Given the description of an element on the screen output the (x, y) to click on. 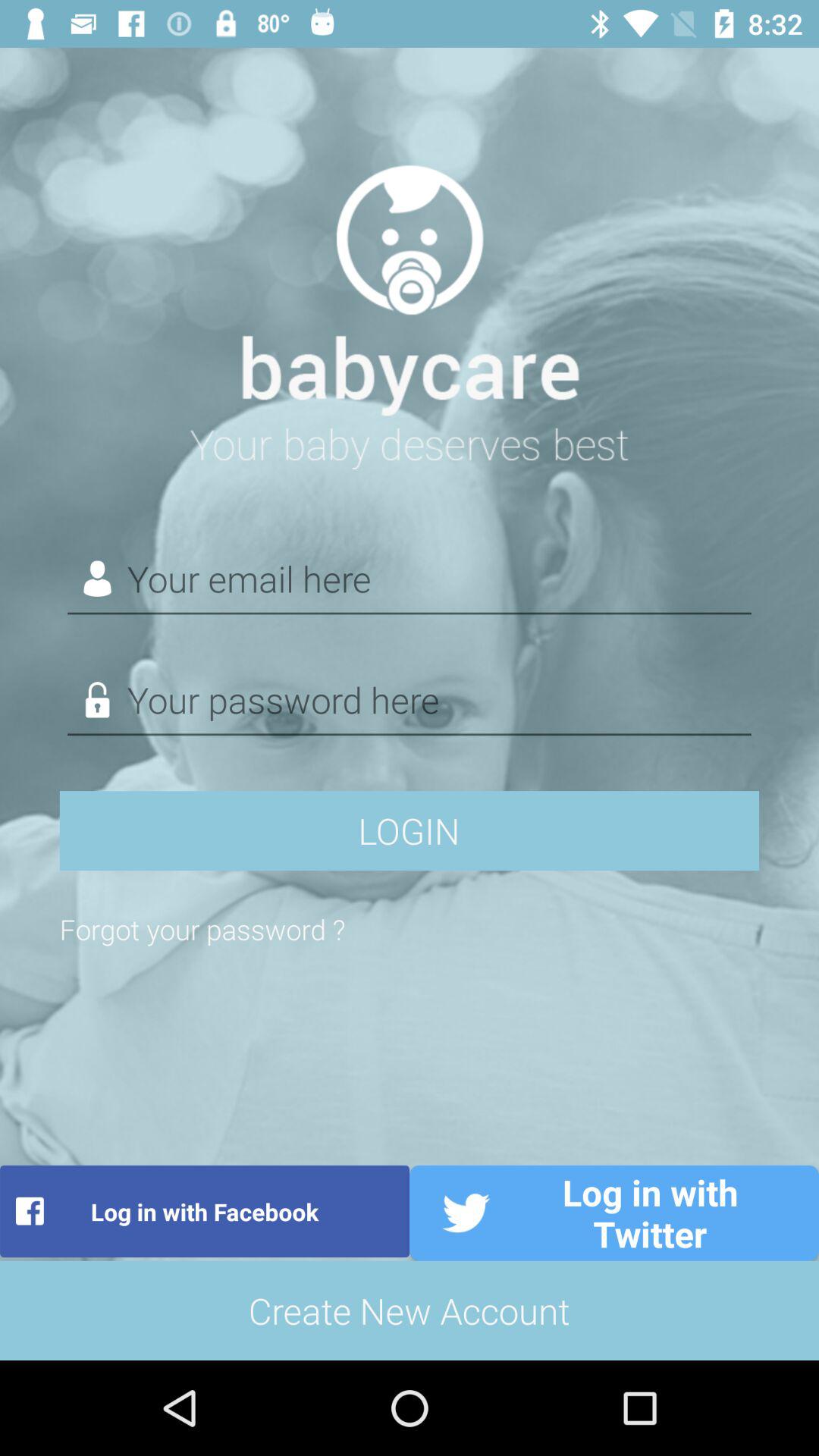
enter email (409, 579)
